Given the description of an element on the screen output the (x, y) to click on. 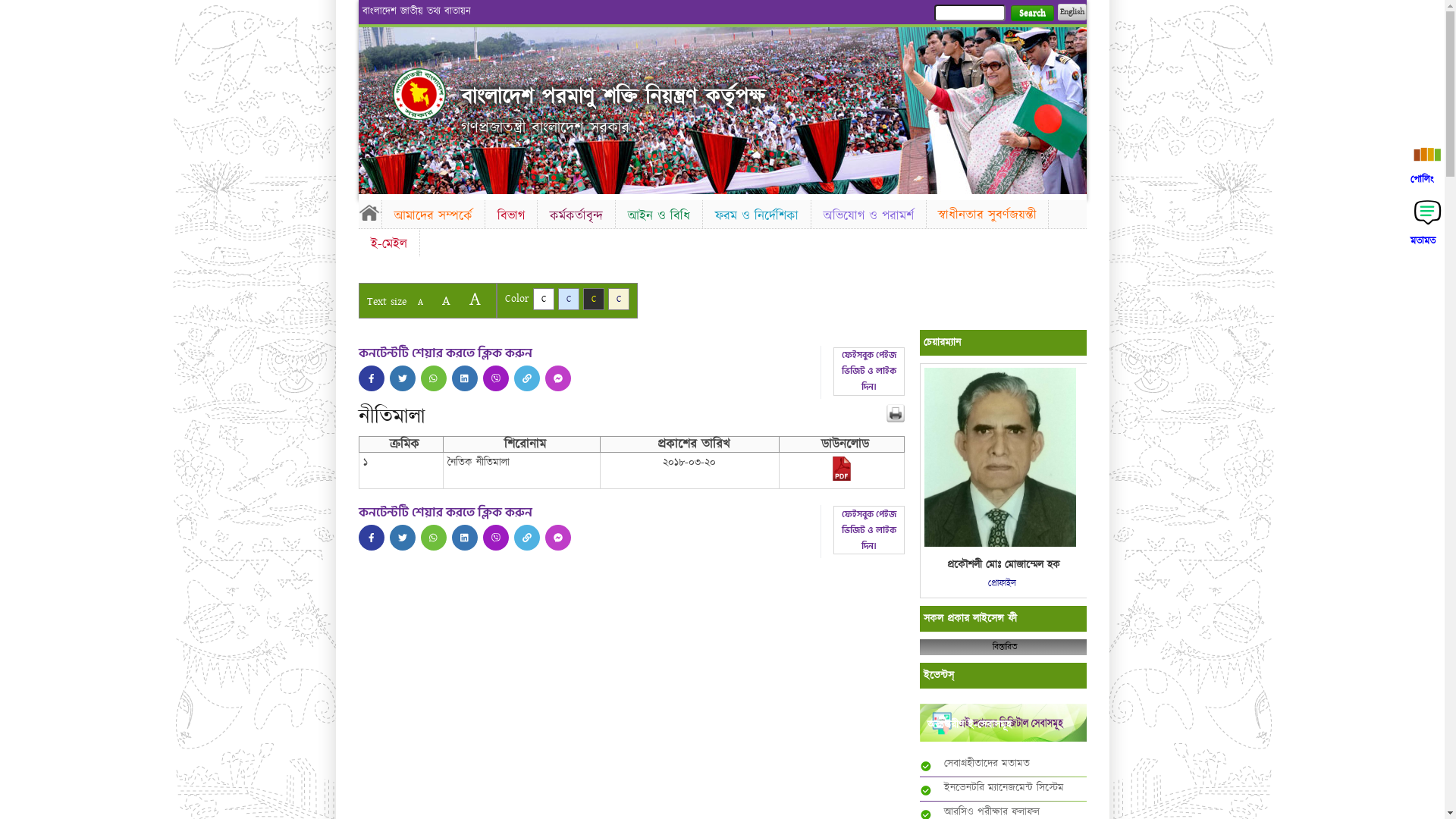
A Element type: text (419, 301)
English Element type: text (1071, 11)
A Element type: text (474, 298)
C Element type: text (592, 299)
C Element type: text (618, 299)
Home Element type: hover (368, 211)
C Element type: text (542, 299)
Search Element type: text (1031, 13)
Home Element type: hover (418, 93)
A Element type: text (445, 300)
C Element type: text (568, 299)
